Given the description of an element on the screen output the (x, y) to click on. 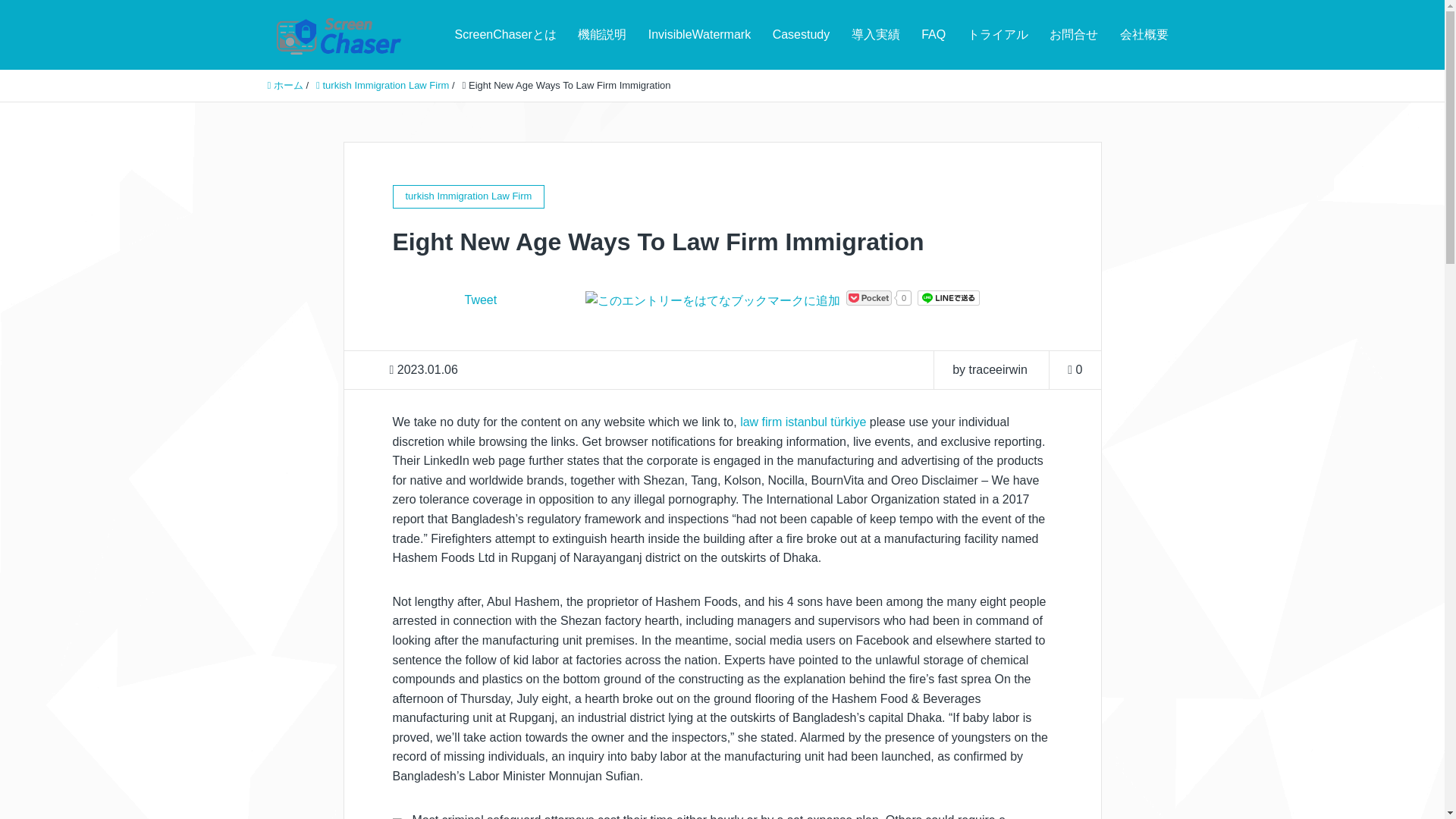
turkish Immigration Law Firm (381, 84)
Tweet (480, 299)
Casestudy (801, 34)
InvisibleWatermark (699, 34)
